Given the description of an element on the screen output the (x, y) to click on. 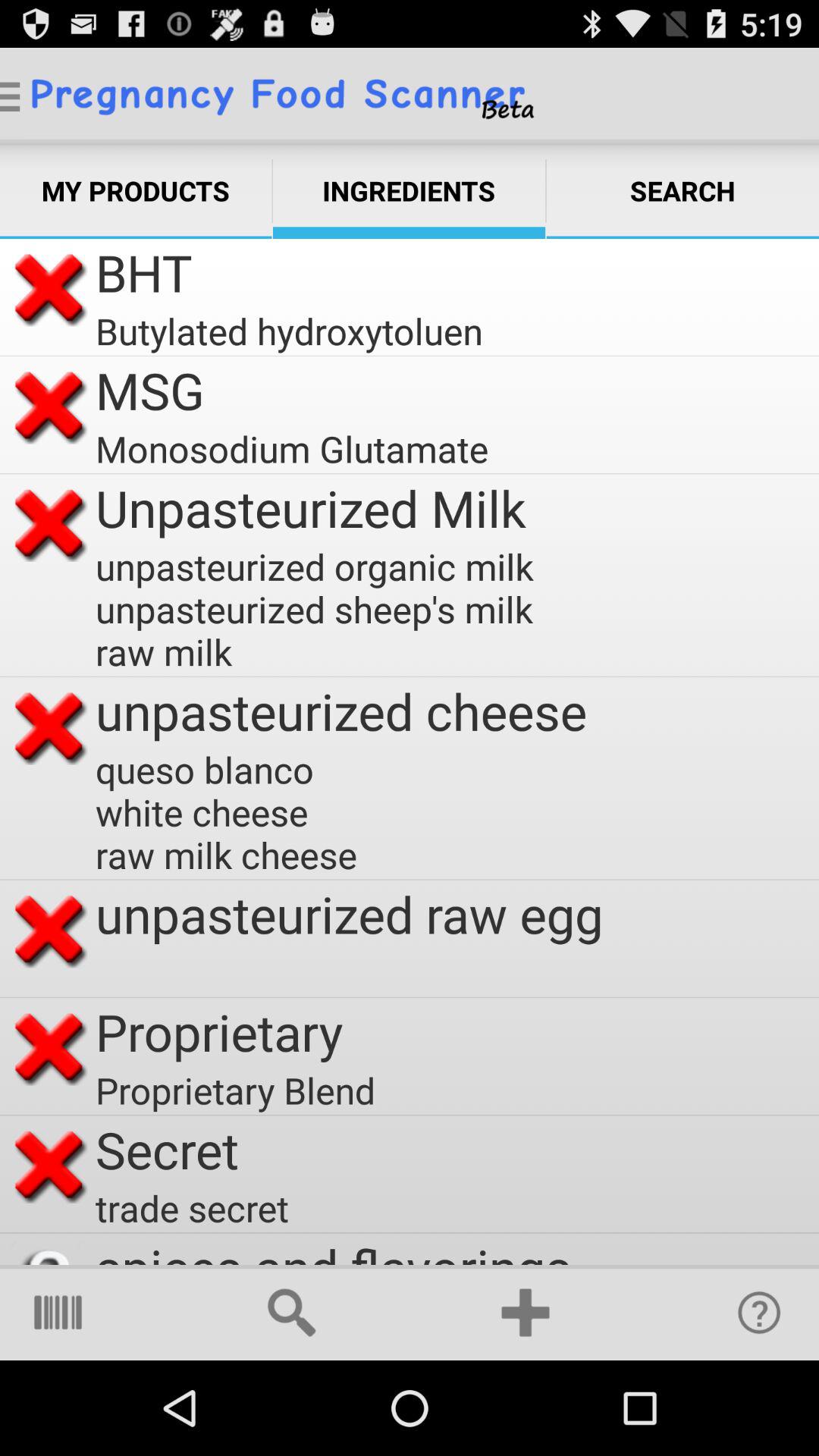
swipe to unpasteurized cheese (340, 711)
